Given the description of an element on the screen output the (x, y) to click on. 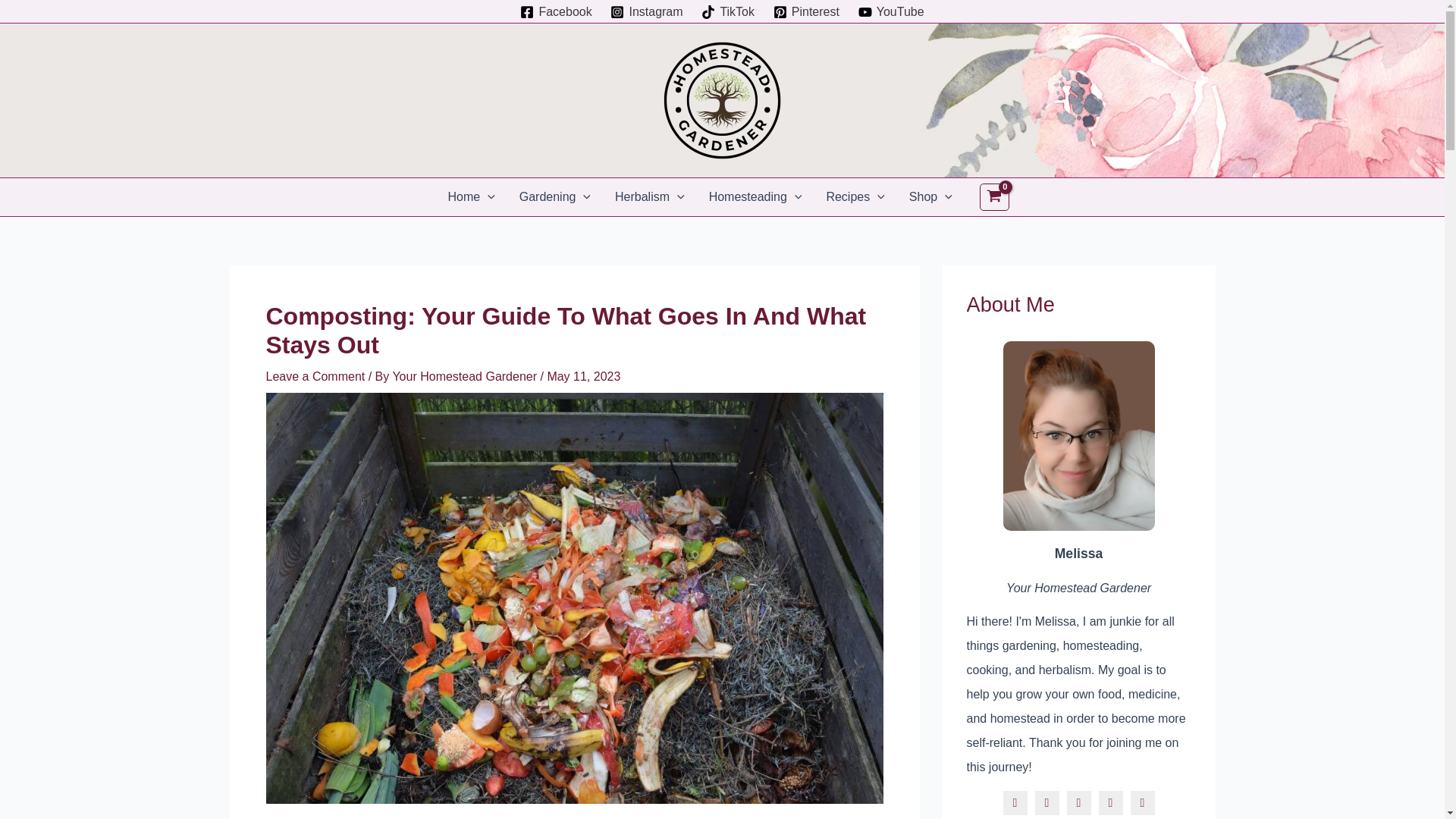
Gardening (554, 197)
Recipes (854, 197)
Pinterest (806, 11)
Homesteading (755, 197)
Facebook (555, 11)
TikTok (727, 11)
Home (470, 197)
View all posts by Your Homestead Gardener (465, 376)
Herbalism (649, 197)
YouTube (890, 11)
